Given the description of an element on the screen output the (x, y) to click on. 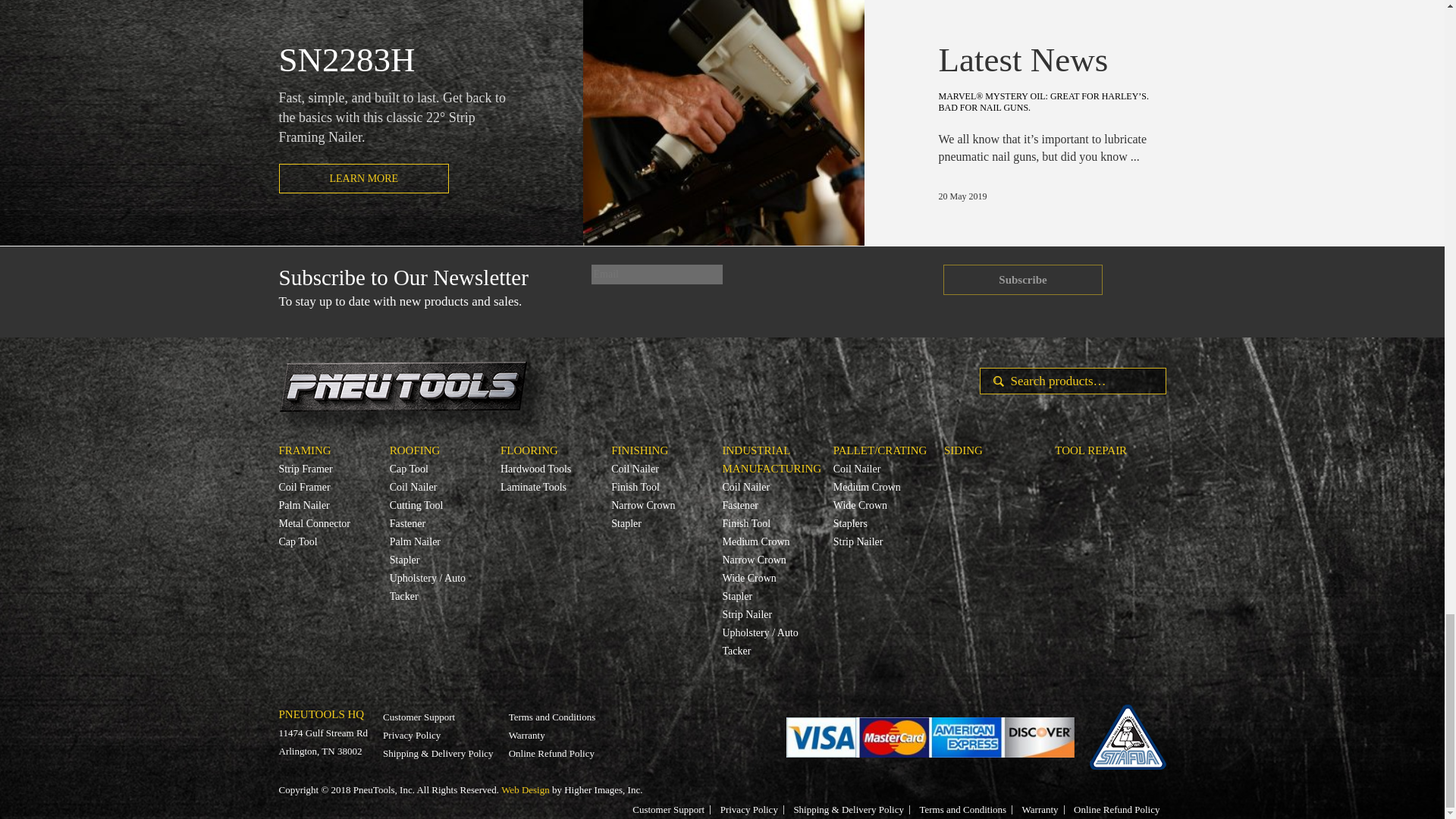
Subscribe (1022, 279)
Search (992, 380)
